Given the description of an element on the screen output the (x, y) to click on. 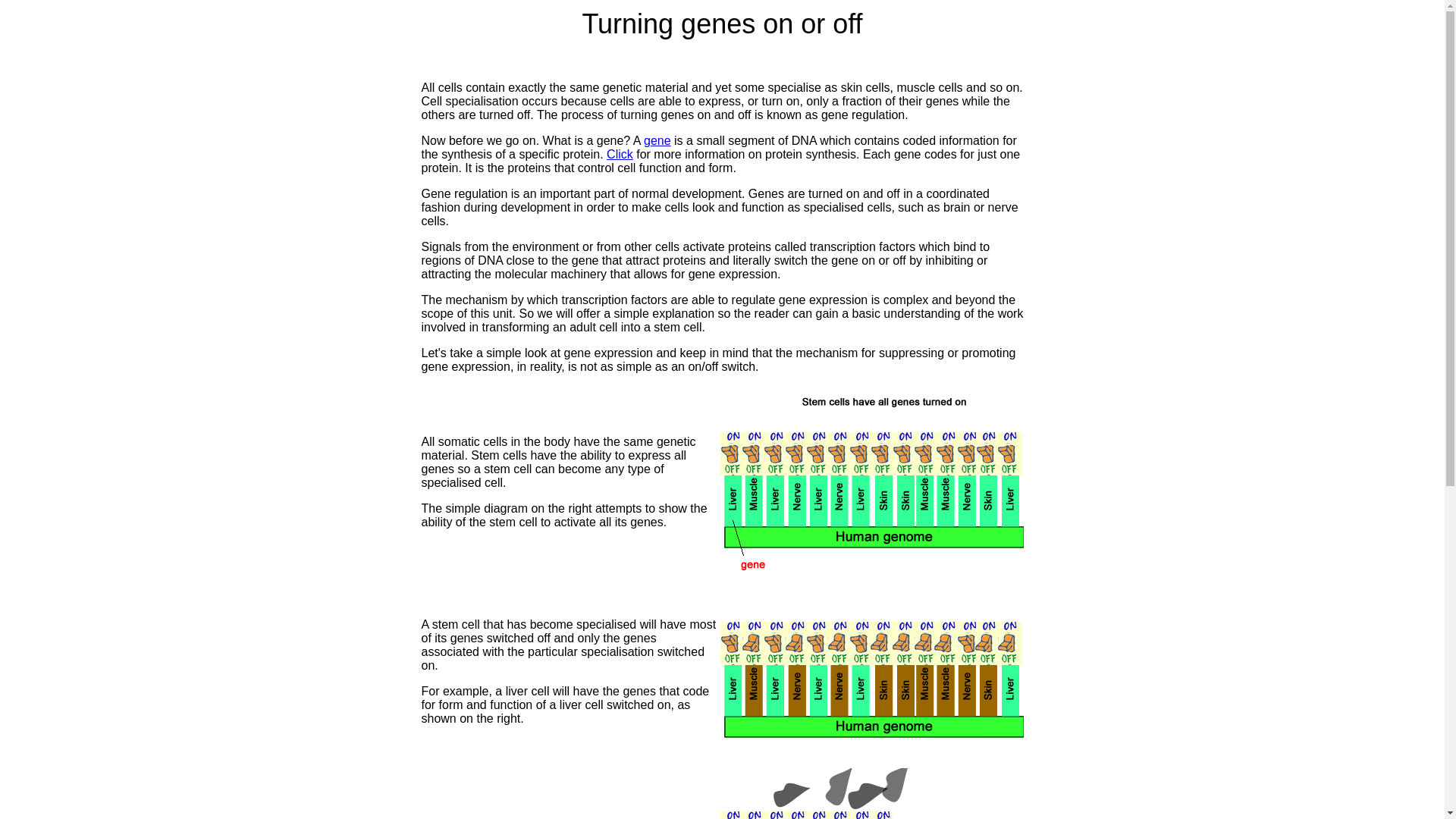
Click Element type: text (619, 153)
gene Element type: text (657, 140)
